Given the description of an element on the screen output the (x, y) to click on. 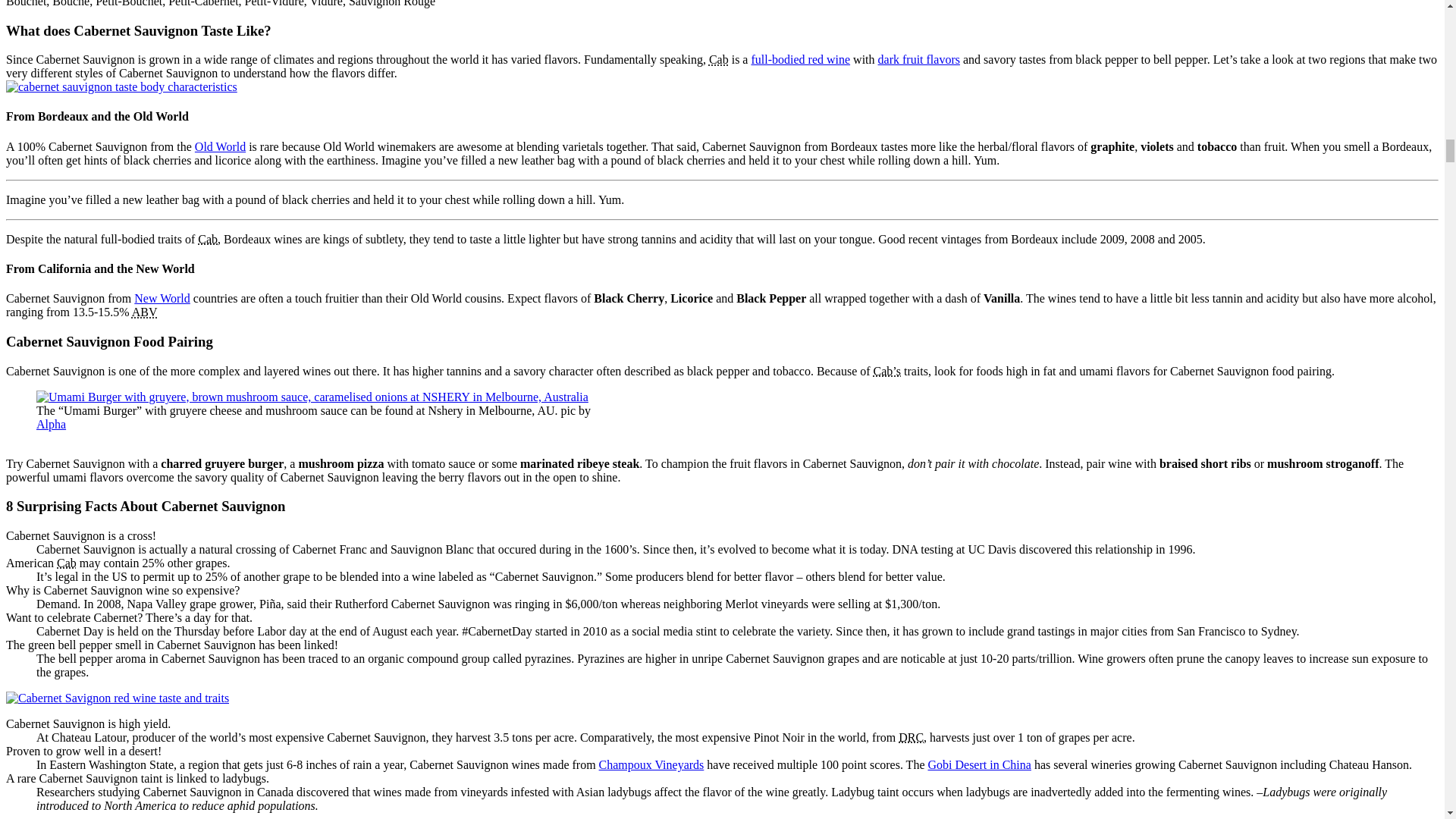
Horse Heaven Hills, WA (651, 764)
Cabernet Sauvignon Red Wine (887, 370)
Alcohol by Volume (144, 311)
photo by Alpha on flickr.com (50, 423)
Old World (220, 146)
Champoux Vineyards (651, 764)
cabernet sauvignon taste body characteristics (121, 87)
Cabernet Sauvignon (207, 238)
Defining Full Bodied Red Wines (800, 59)
